Given the description of an element on the screen output the (x, y) to click on. 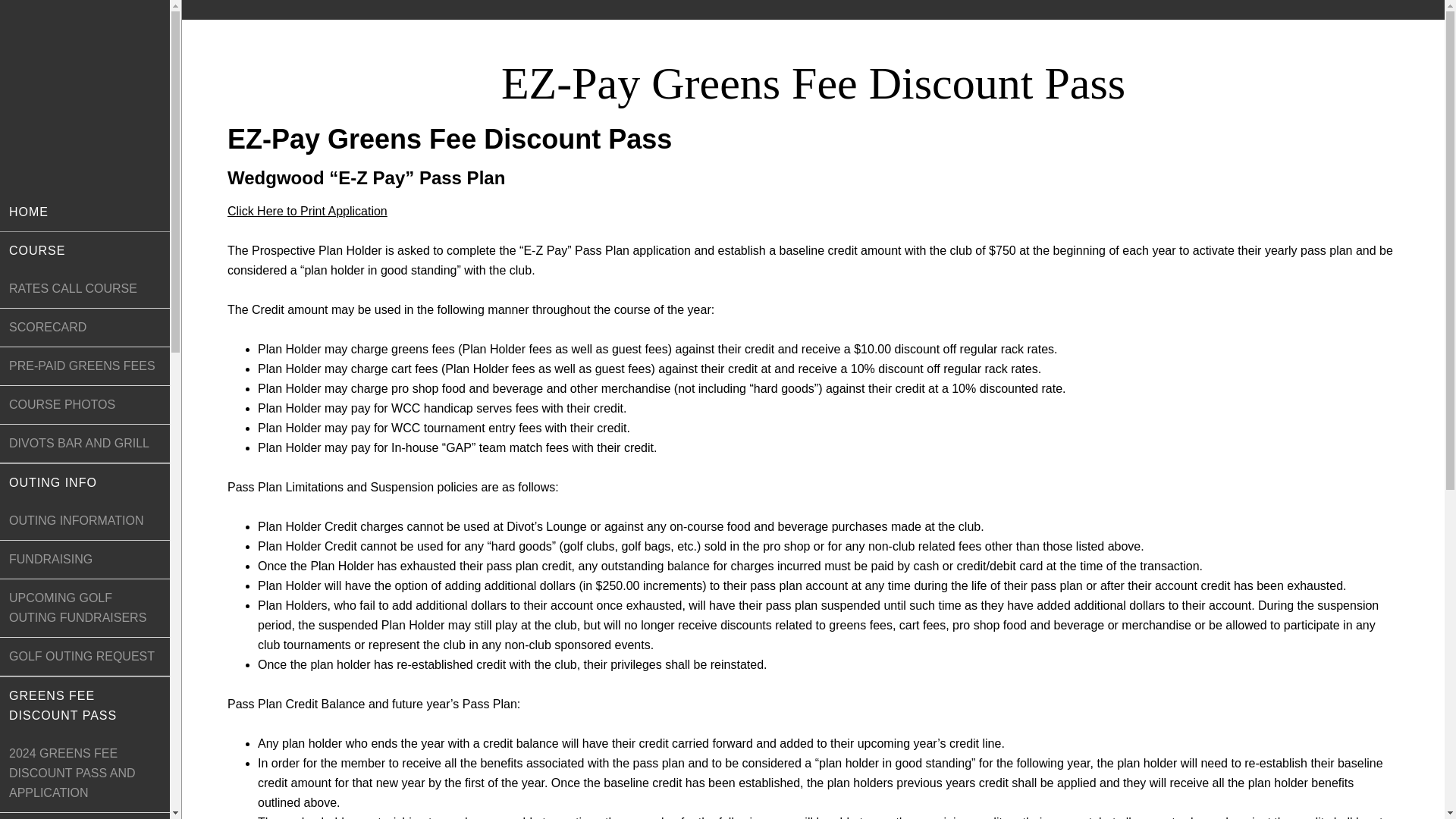
FUNDRAISING (85, 559)
RATES CALL COURSE (85, 289)
2024 GREENS FEE DISCOUNT PASS AND APPLICATION (85, 773)
HOME (85, 211)
SCORECARD (85, 327)
DIVOTS BAR AND GRILL (85, 444)
OUTING INFORMATION (85, 521)
GOLF OUTING REQUEST (85, 657)
PRE-PAID GREENS FEES (85, 366)
COURSE PHOTOS (85, 405)
